Given the description of an element on the screen output the (x, y) to click on. 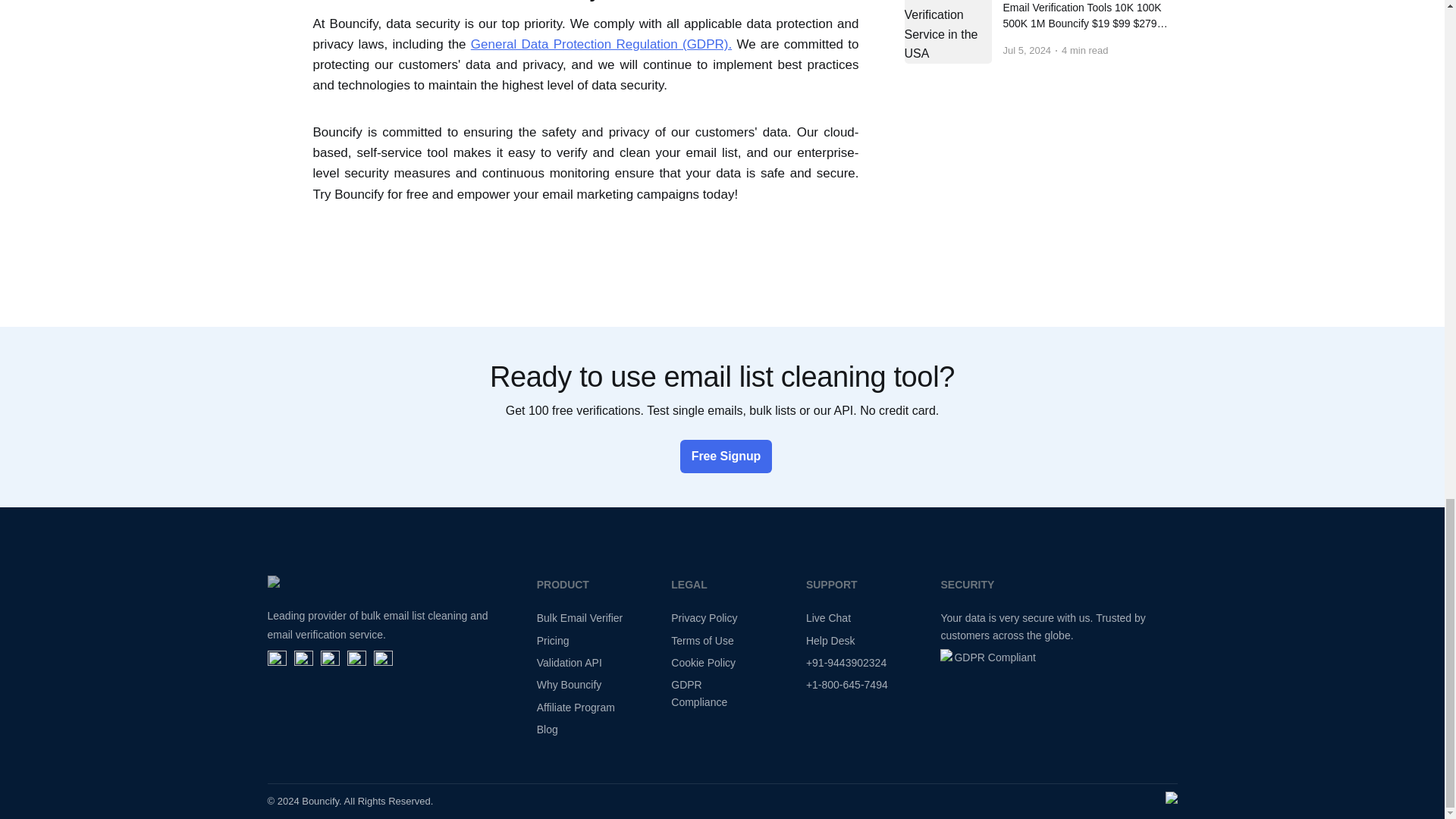
Help Desk (831, 640)
GDPR Compliance (698, 692)
Cookie Policy (703, 662)
Validation API (569, 662)
Privacy Policy (703, 617)
Why Bouncify (569, 684)
Blog (547, 729)
Affiliate Program (575, 707)
Pricing (553, 640)
Bulk Email Verifier (580, 617)
Terms of Use (702, 640)
Free Signup (722, 455)
Live Chat (828, 617)
